Given the description of an element on the screen output the (x, y) to click on. 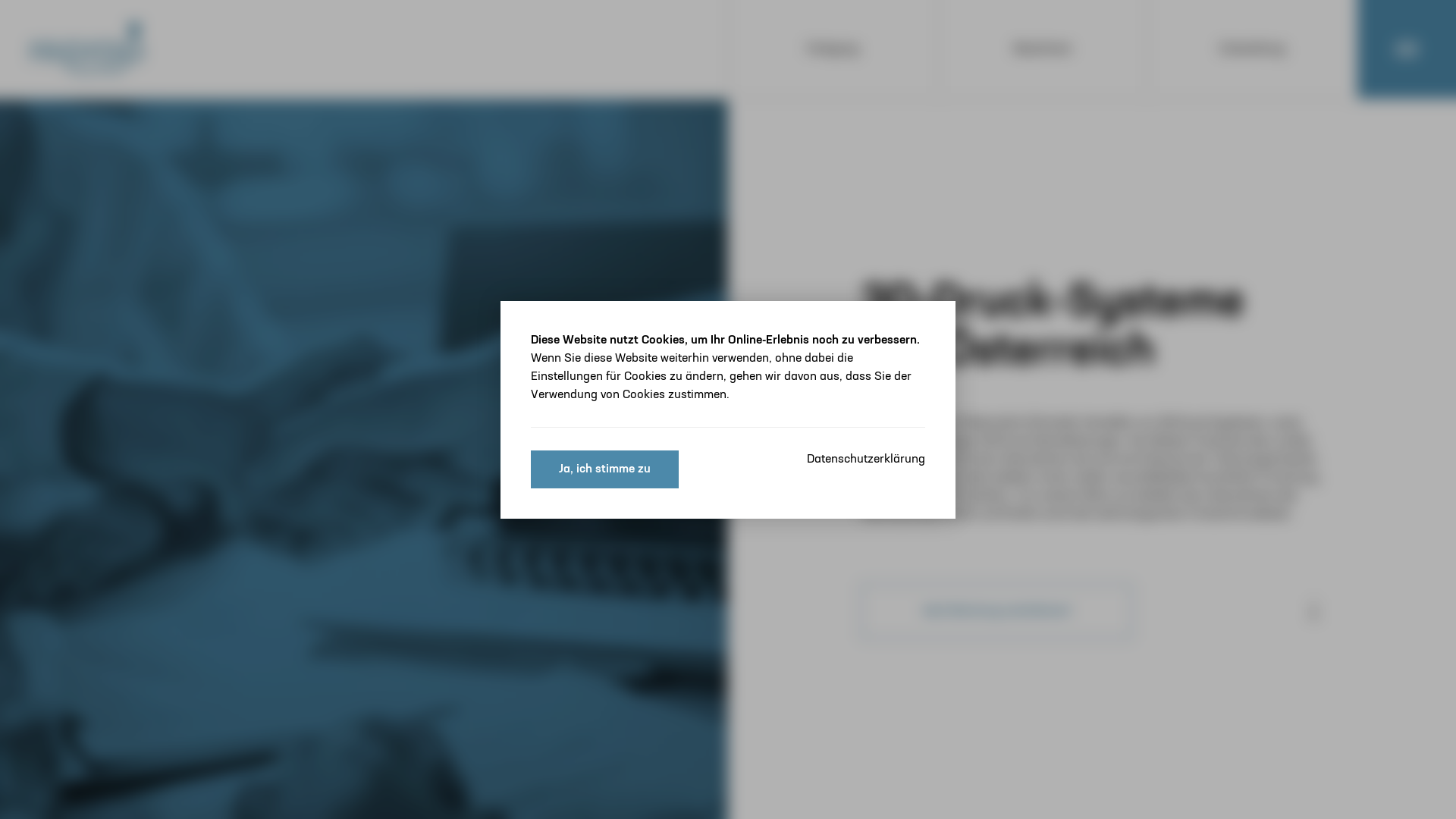
reprap Austria Element type: hover (87, 49)
Fertigung Element type: text (833, 49)
Jetzt Beratung vereinbaren! Element type: text (996, 610)
Ja, ich stimme zu Element type: text (604, 469)
Entwicklung Element type: text (1252, 49)
Maschinen Element type: text (1043, 49)
